Given the description of an element on the screen output the (x, y) to click on. 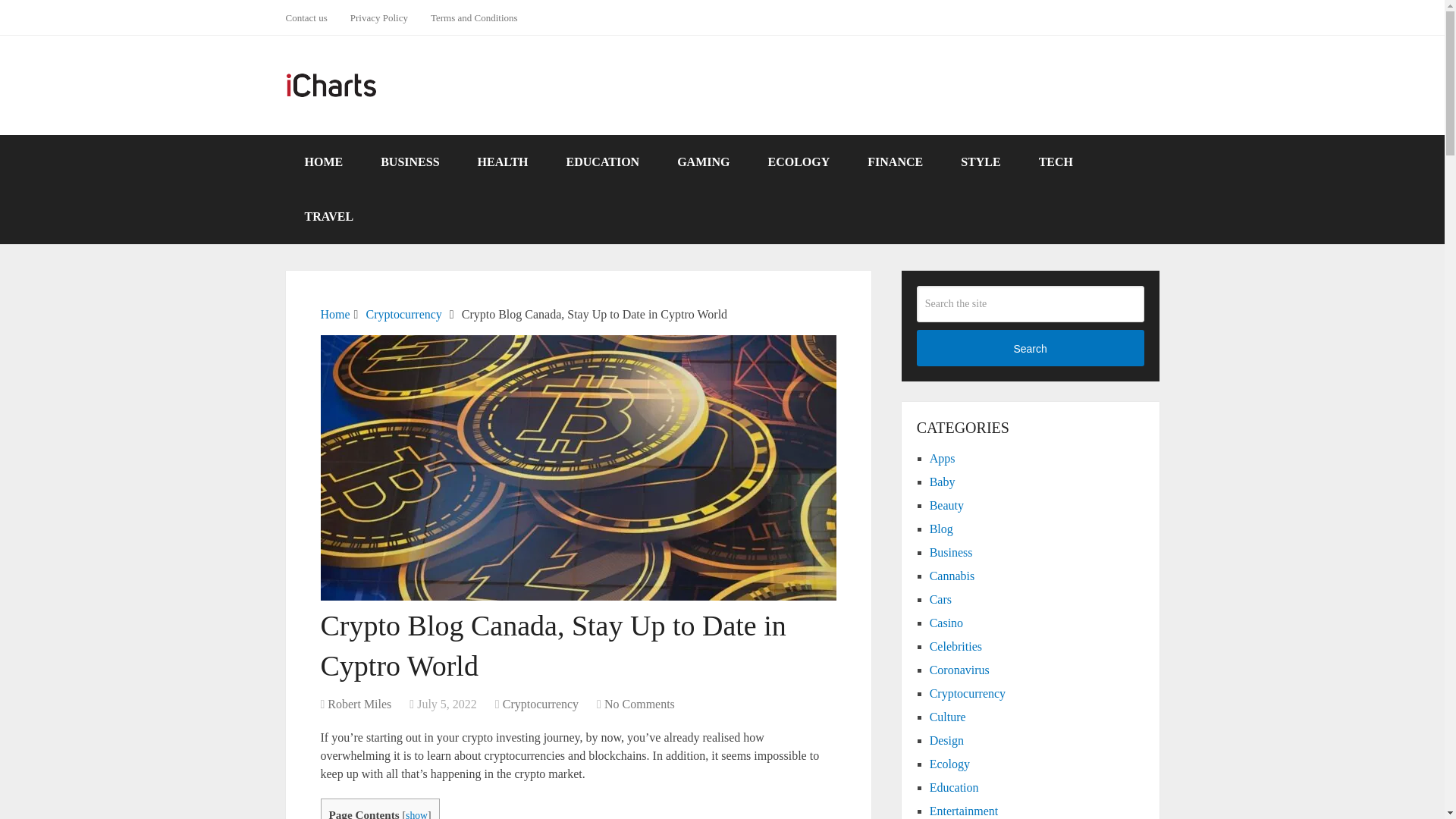
BUSINESS (409, 162)
View all posts in Cryptocurrency (540, 703)
ECOLOGY (798, 162)
Privacy Policy (379, 17)
Home (334, 314)
TECH (1056, 162)
Terms and Conditions (474, 17)
No Comments (639, 703)
Cryptocurrency (540, 703)
FINANCE (895, 162)
